Given the description of an element on the screen output the (x, y) to click on. 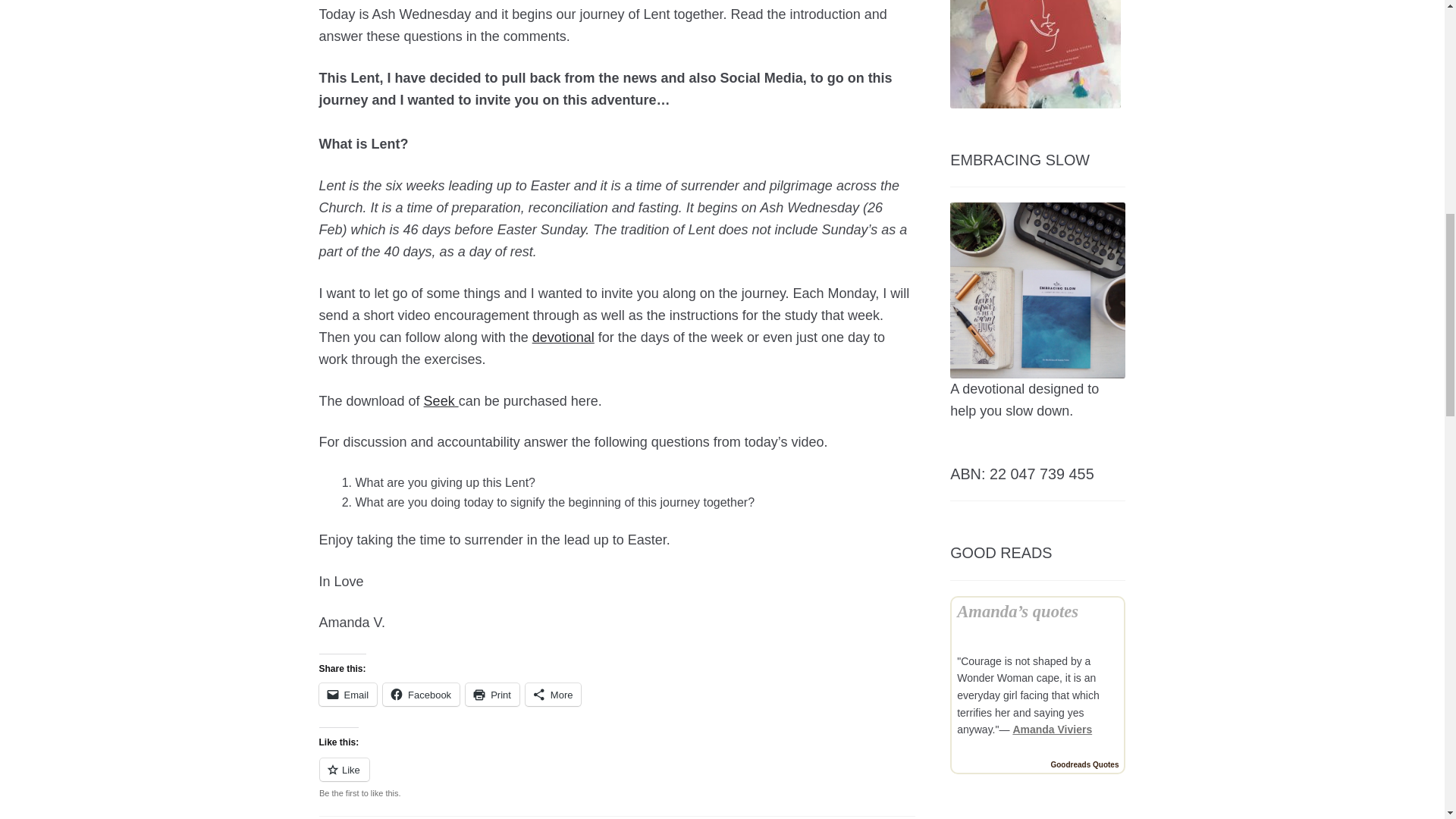
DEAR CREATIVE SELF (1035, 54)
Amanda Viviers quotes (1051, 729)
Click to email a link to a friend (347, 694)
Click to share on Facebook (421, 694)
Like or Reblog (616, 778)
EMBRACING SLOW (1037, 289)
Click to print (492, 694)
